Given the description of an element on the screen output the (x, y) to click on. 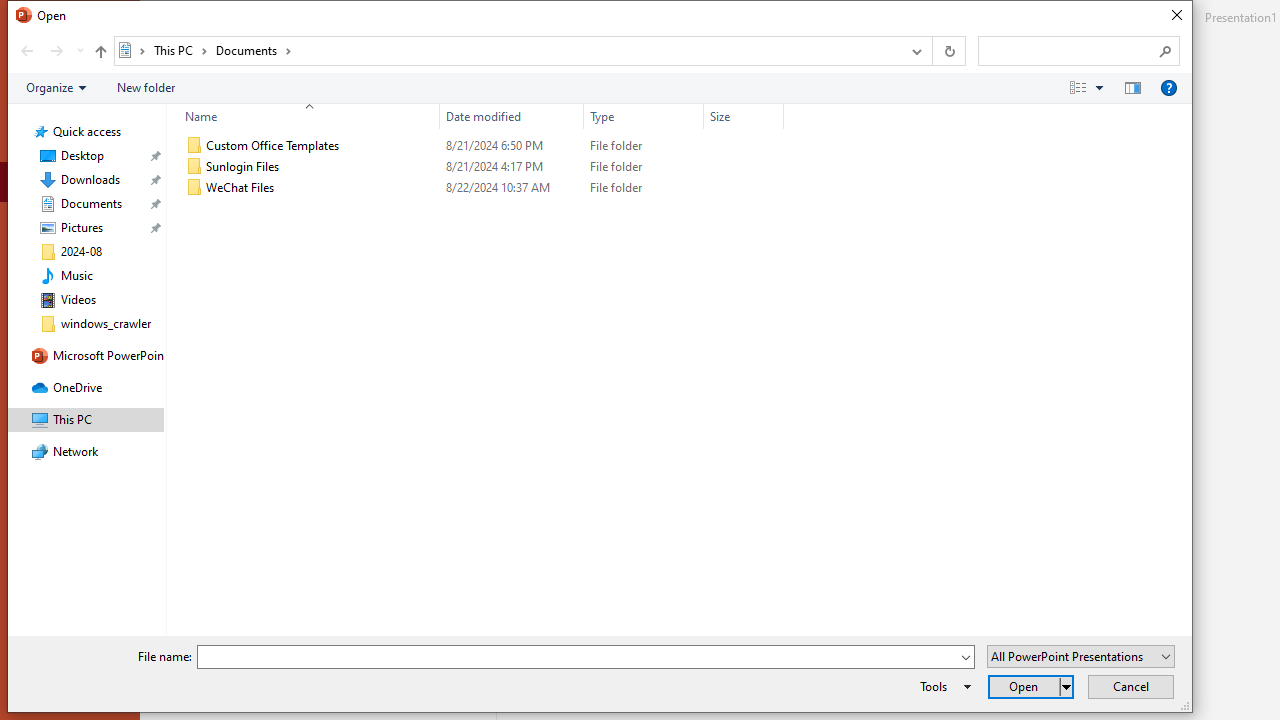
Tools (942, 686)
Type (643, 115)
